Given the description of an element on the screen output the (x, y) to click on. 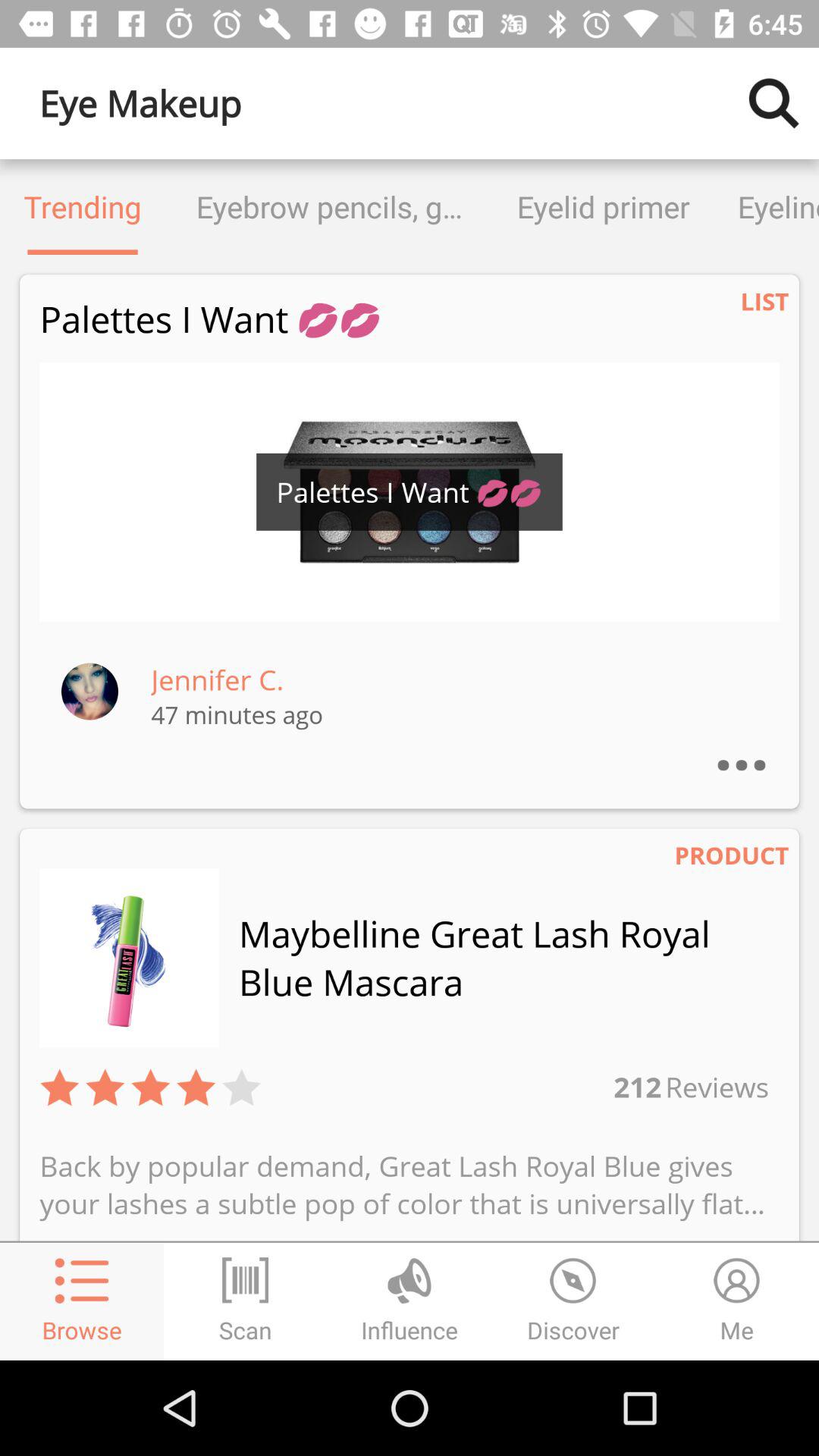
swipe to jennifer c. icon (217, 679)
